Given the description of an element on the screen output the (x, y) to click on. 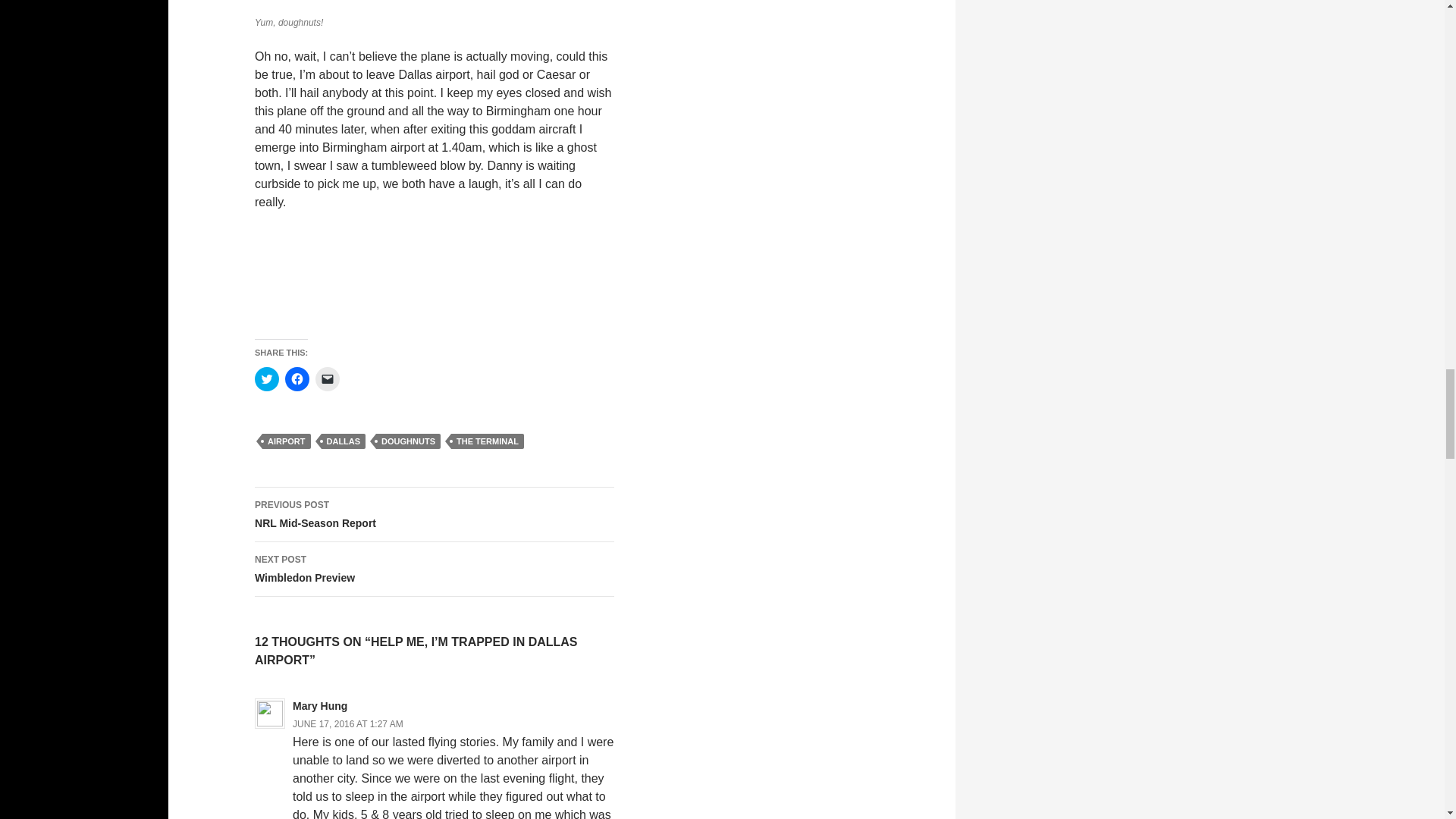
AIRPORT (286, 441)
THE TERMINAL (487, 441)
JUNE 17, 2016 AT 1:27 AM (434, 514)
DOUGHNUTS (434, 569)
Click to share on Facebook (347, 724)
Click to email a link to a friend (408, 441)
Click to share on Twitter (296, 378)
DALLAS (327, 378)
